Given the description of an element on the screen output the (x, y) to click on. 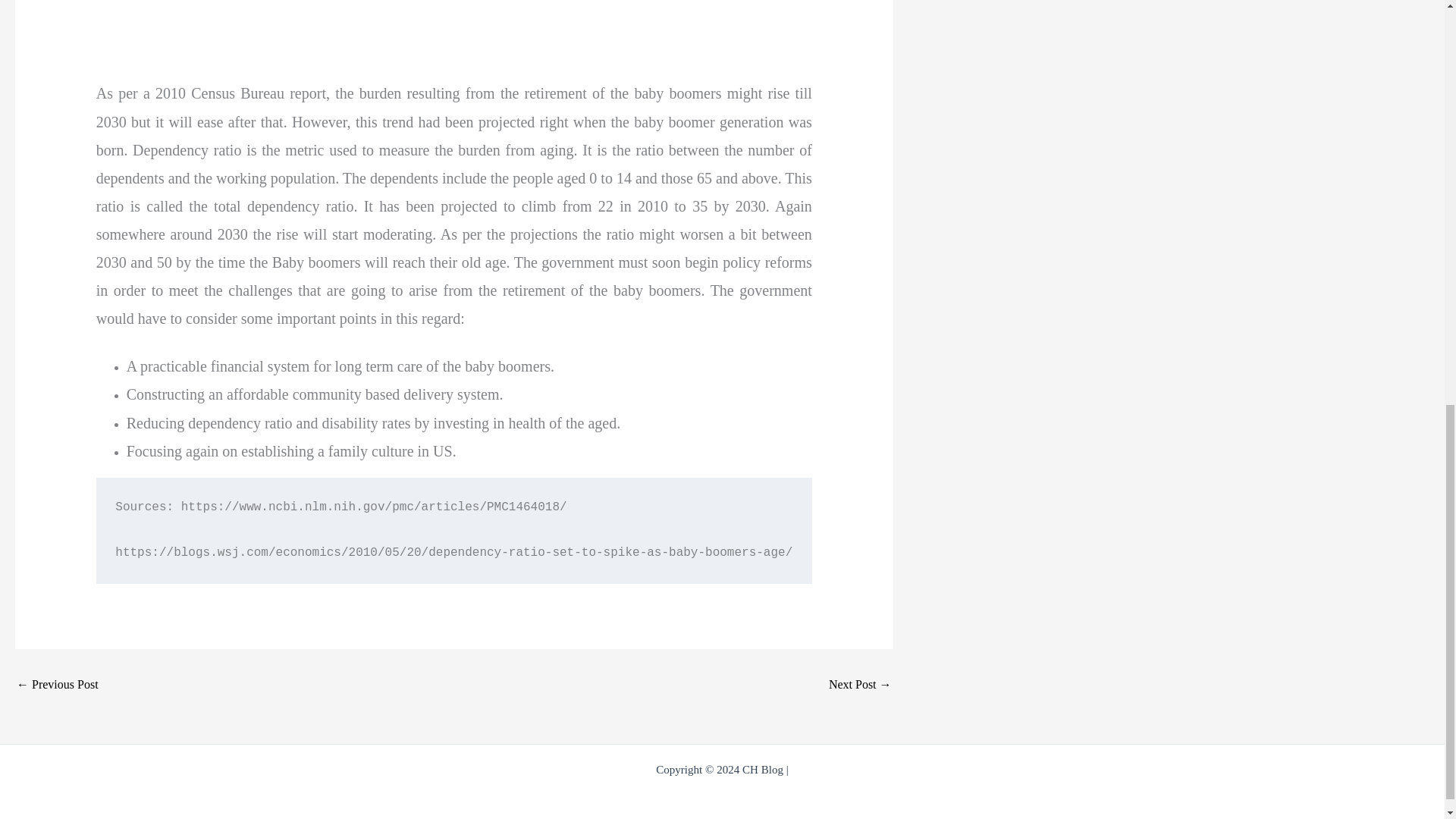
Advertisement (376, 36)
Managing a multi-generational workforce (859, 684)
